Given the description of an element on the screen output the (x, y) to click on. 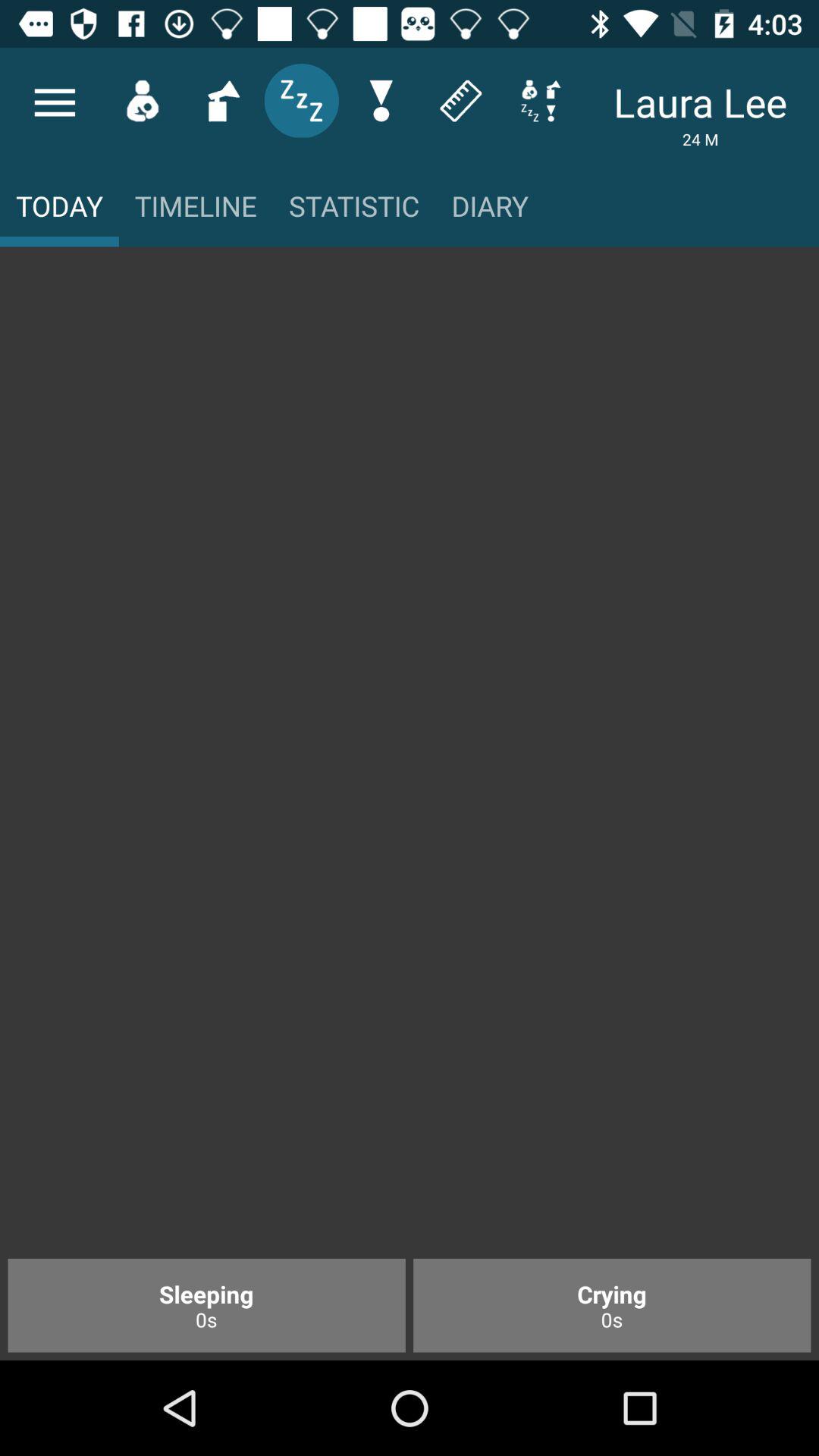
open the item next to the sleeping
0s (612, 1305)
